Given the description of an element on the screen output the (x, y) to click on. 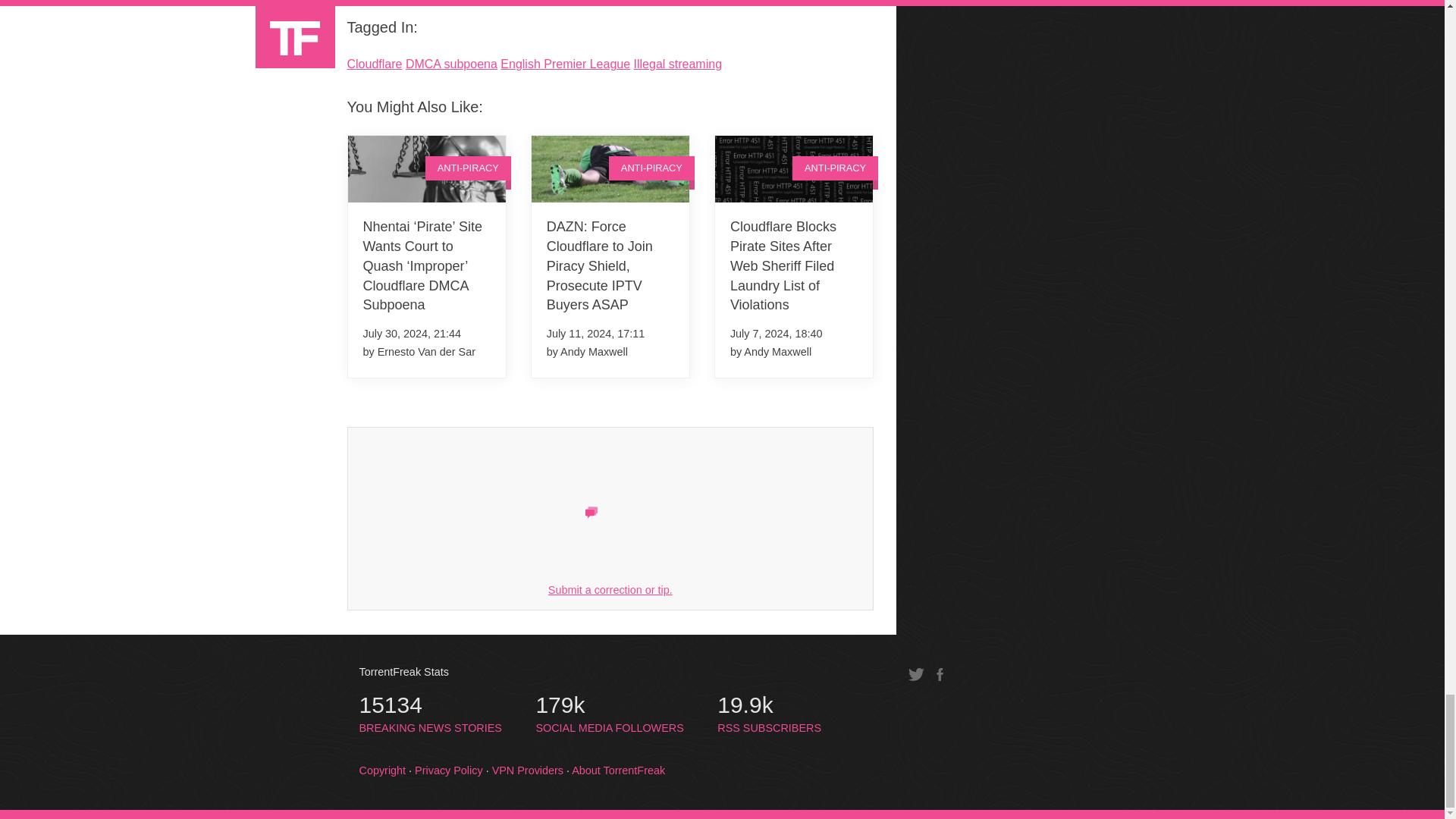
English Premier League (565, 63)
DMCA subpoena (451, 63)
Submit a correction or tip. (610, 589)
Illegal streaming (677, 63)
Cloudflare (375, 63)
